Given the description of an element on the screen output the (x, y) to click on. 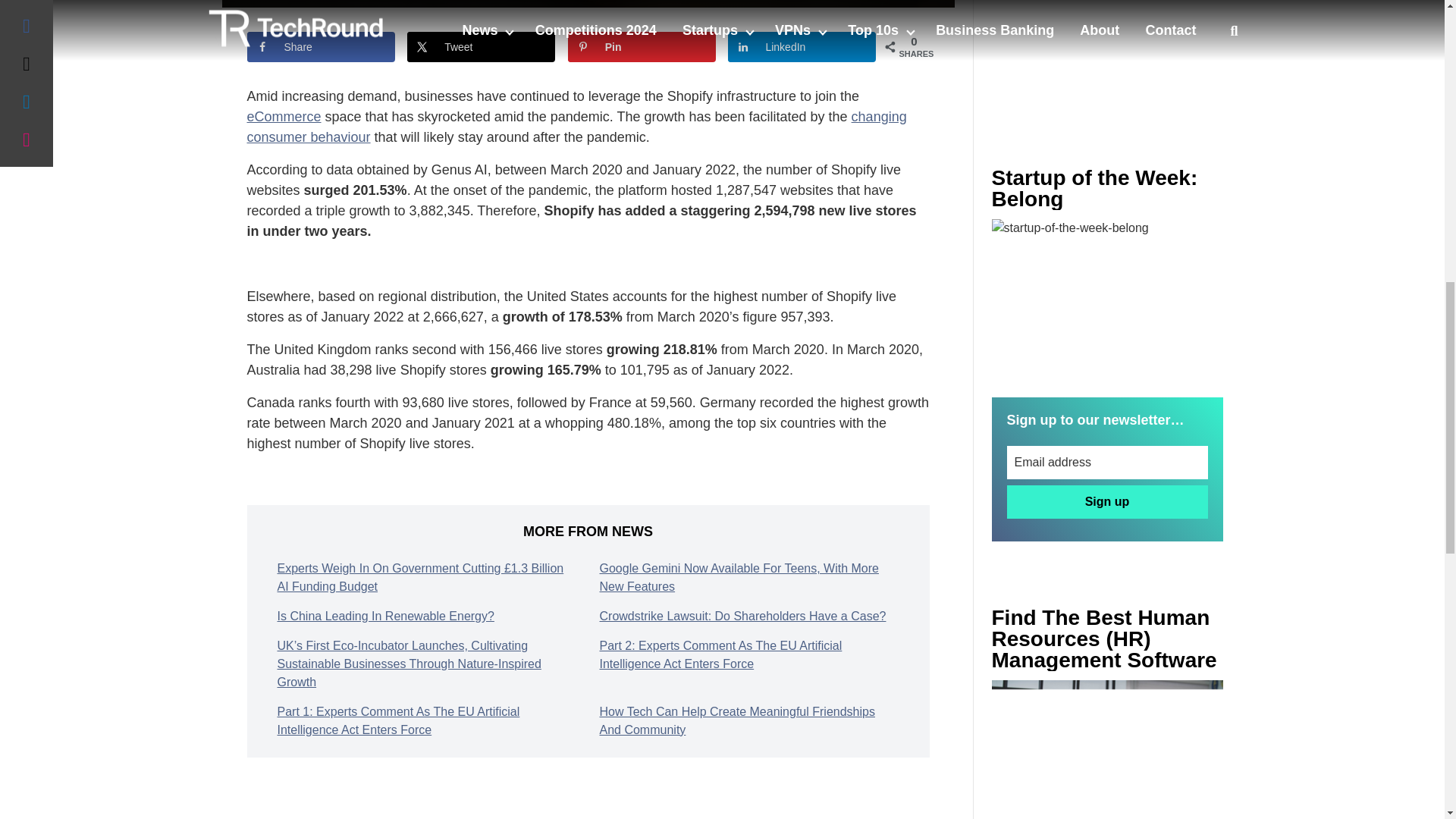
Save to Pinterest (641, 46)
Share on LinkedIn (802, 46)
Share on Facebook (320, 46)
Sign up (1107, 501)
Startup of the Week: Neon Link (1107, 296)
Share on X (480, 46)
Enter The BAME Top 50 Entrepreneurs - Deadline 10th Nov 2021 (1107, 749)
Advertisement (1107, 53)
